Given the description of an element on the screen output the (x, y) to click on. 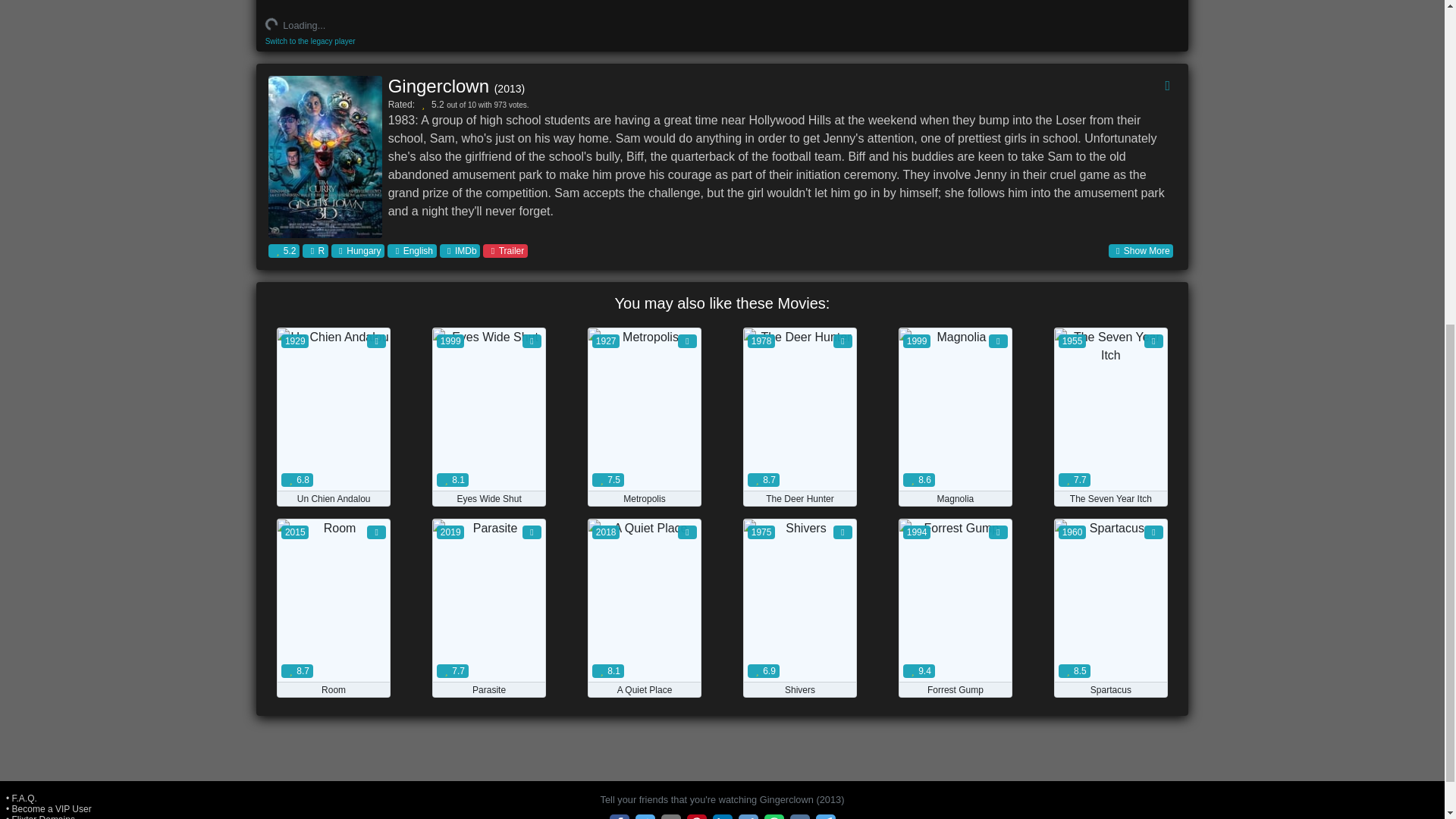
Watch Now (644, 468)
Watch Now (333, 659)
US Content Rating (315, 250)
Watch Now (644, 659)
Download (379, 498)
Rated: 8.7 out of 10 with 365,289 votes. (799, 498)
Watch Now (488, 468)
Watch Now (799, 468)
Open IMDb (459, 250)
Download (846, 498)
Download (690, 498)
Show More (1140, 250)
Rated: 7.5 out of 10 with 187,110 votes. (643, 498)
Download (1001, 498)
Watch YouTube Trailer (505, 250)
